Given the description of an element on the screen output the (x, y) to click on. 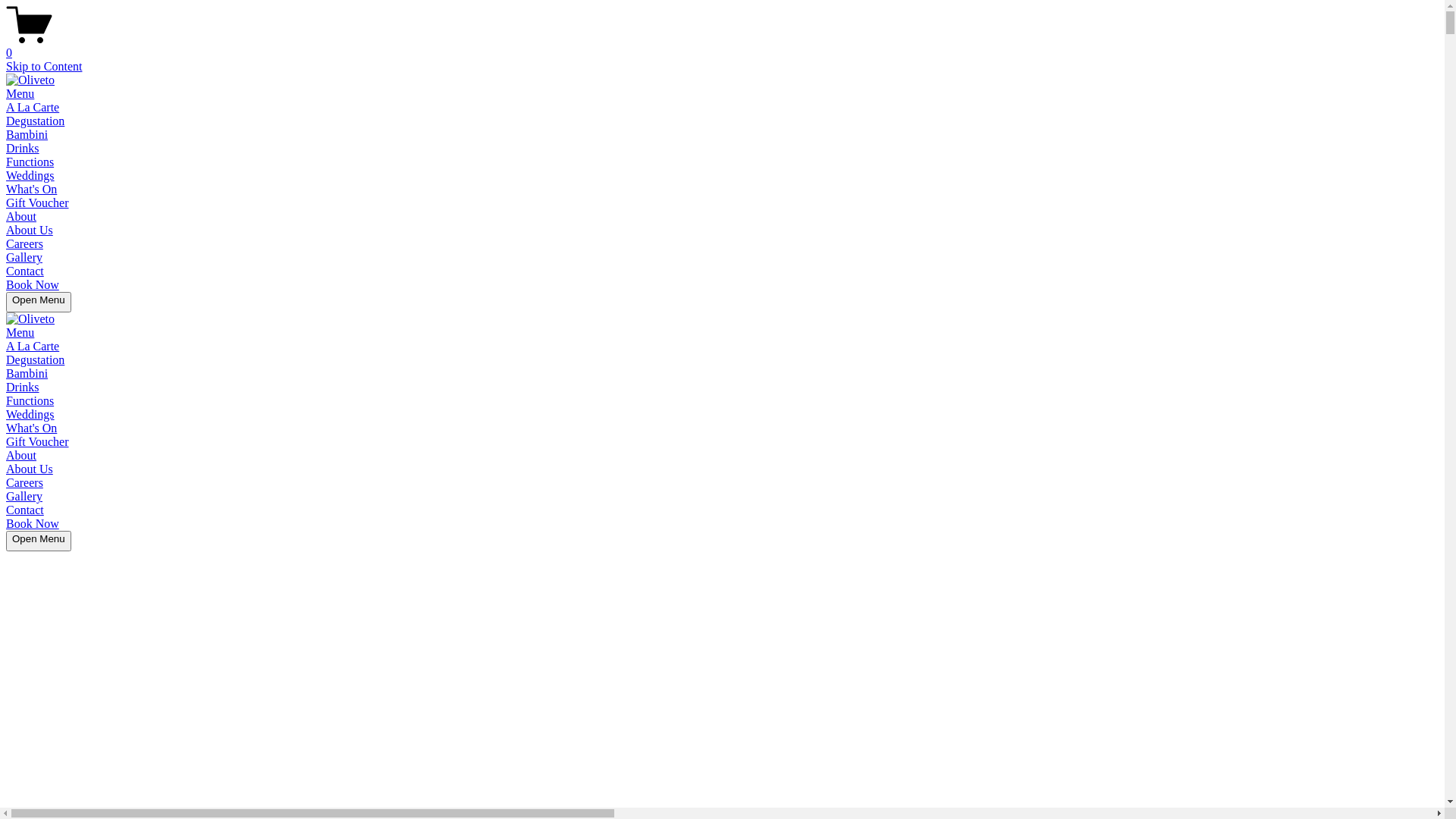
A La Carte Element type: text (32, 345)
Drinks Element type: text (22, 386)
Open Menu Element type: text (38, 540)
Bambini Element type: text (26, 373)
About Element type: text (21, 216)
Degustation Element type: text (35, 120)
About Us Element type: text (29, 468)
Careers Element type: text (24, 482)
0 Element type: text (722, 45)
Bambini Element type: text (26, 134)
Gift Voucher Element type: text (37, 441)
Weddings Element type: text (30, 175)
Book Now Element type: text (32, 523)
Menu Element type: text (20, 332)
Careers Element type: text (24, 243)
Functions Element type: text (29, 161)
Book Now Element type: text (32, 284)
Skip to Content Element type: text (43, 65)
What's On Element type: text (31, 427)
Gift Voucher Element type: text (37, 202)
Functions Element type: text (29, 400)
Contact Element type: text (24, 509)
A La Carte Element type: text (32, 106)
What's On Element type: text (31, 188)
Weddings Element type: text (30, 413)
Contact Element type: text (24, 270)
Gallery Element type: text (24, 257)
About Us Element type: text (29, 229)
Gallery Element type: text (24, 495)
Menu Element type: text (20, 93)
Degustation Element type: text (35, 359)
Open Menu Element type: text (38, 301)
About Element type: text (21, 454)
Drinks Element type: text (22, 147)
